Given the description of an element on the screen output the (x, y) to click on. 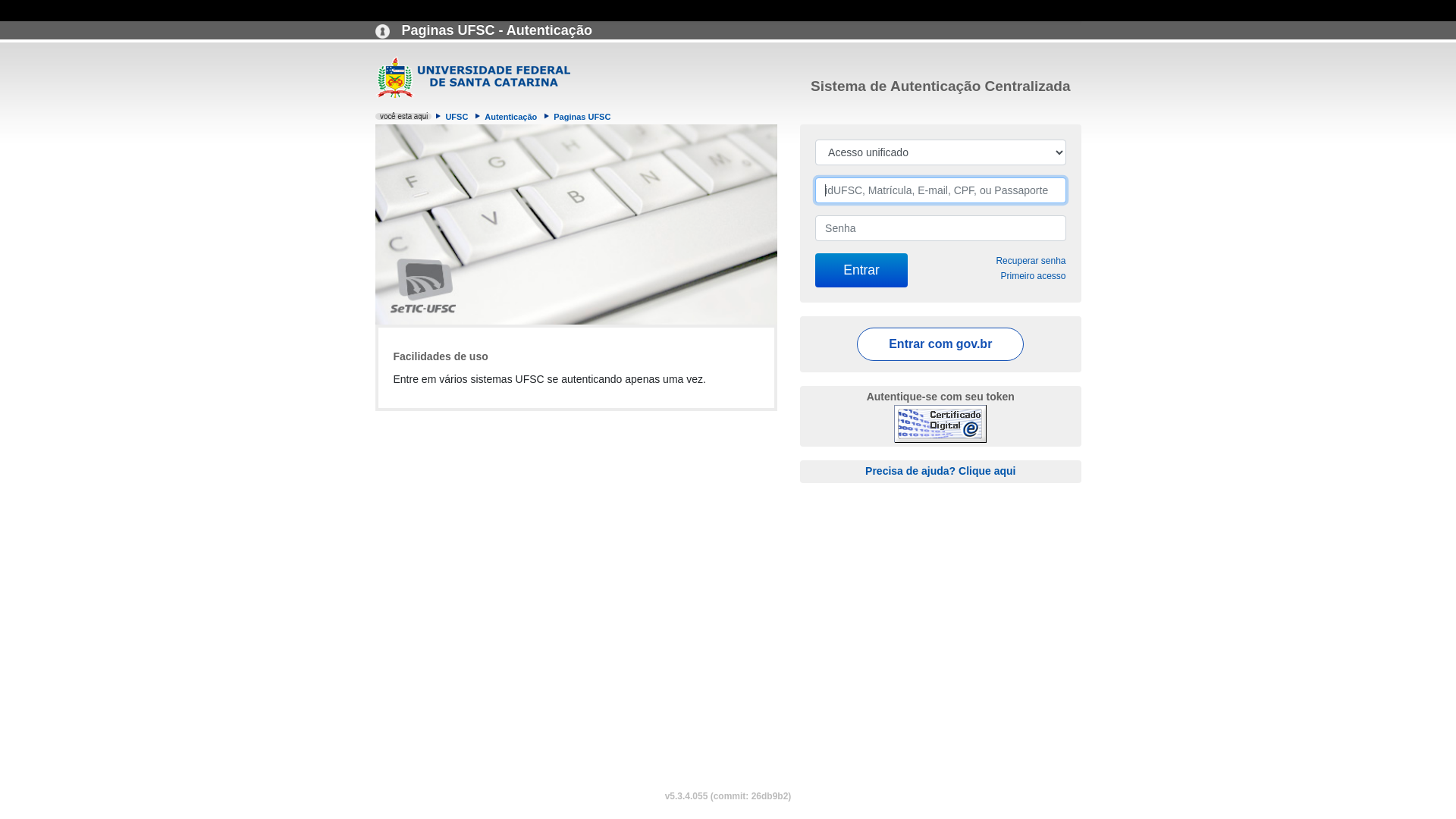
Recuperar senha Element type: text (1030, 260)
Primeiro acesso Element type: text (1032, 275)
Entrar Element type: text (861, 270)
Paginas UFSC Element type: text (581, 116)
UFSC Element type: text (456, 116)
Precisa de ajuda? Clique aqui Element type: text (940, 470)
Entrar com
gov.br Element type: text (939, 343)
